Given the description of an element on the screen output the (x, y) to click on. 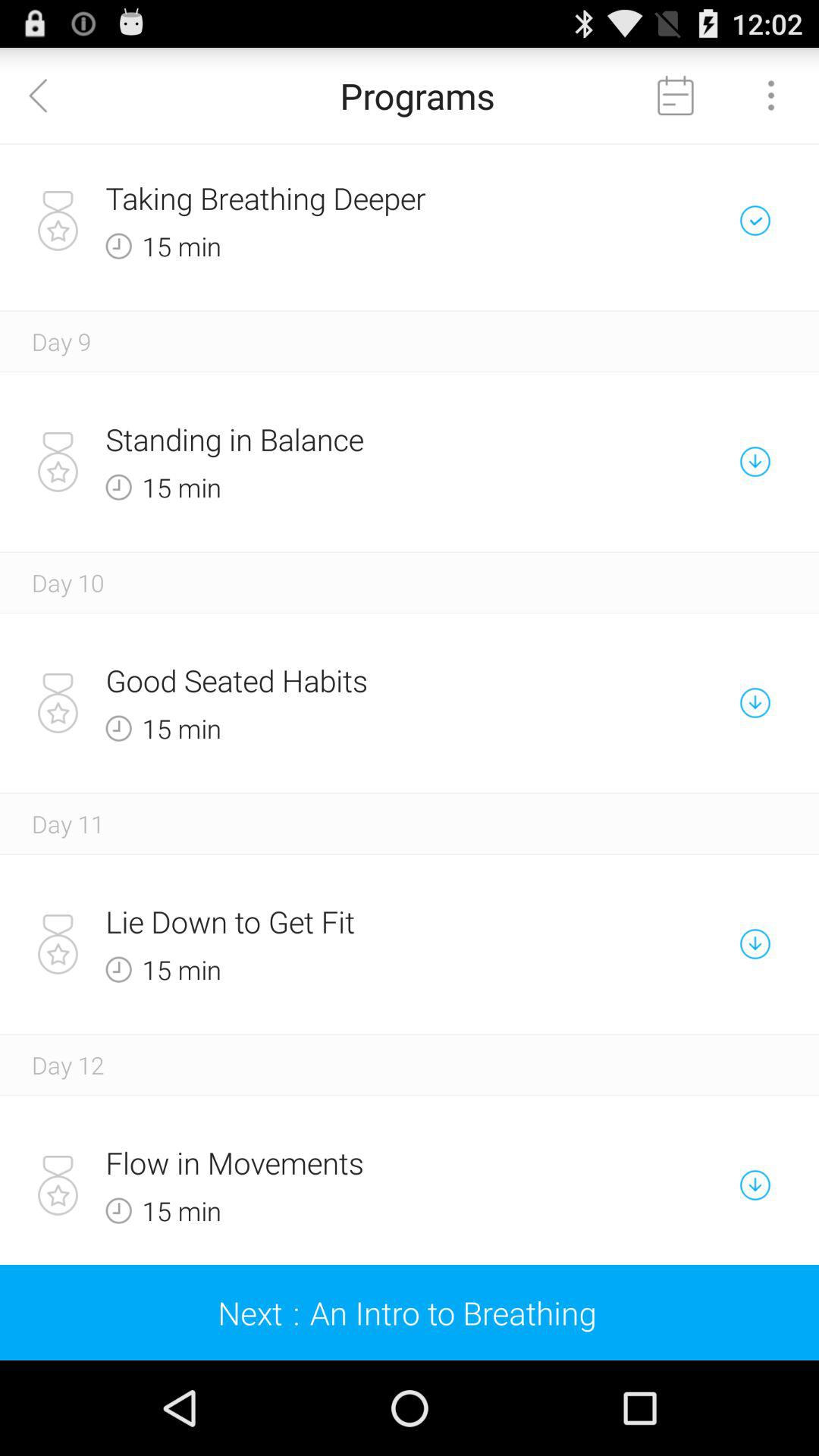
jump until the day 9 item (61, 341)
